Given the description of an element on the screen output the (x, y) to click on. 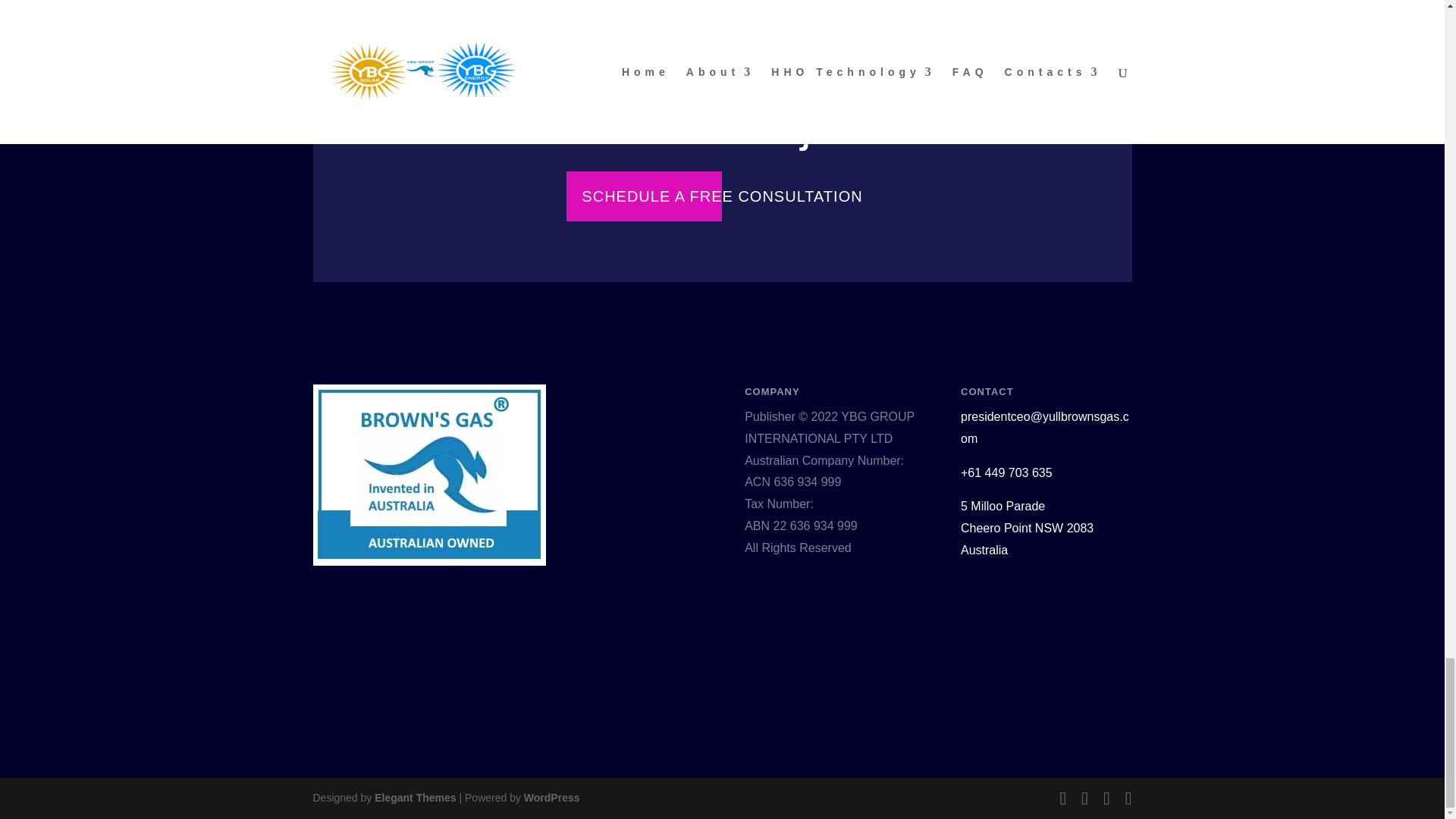
ybg-logo-large (428, 474)
Premium WordPress Themes (414, 797)
SCHEDULE A FREE CONSULTATION (721, 196)
